Given the description of an element on the screen output the (x, y) to click on. 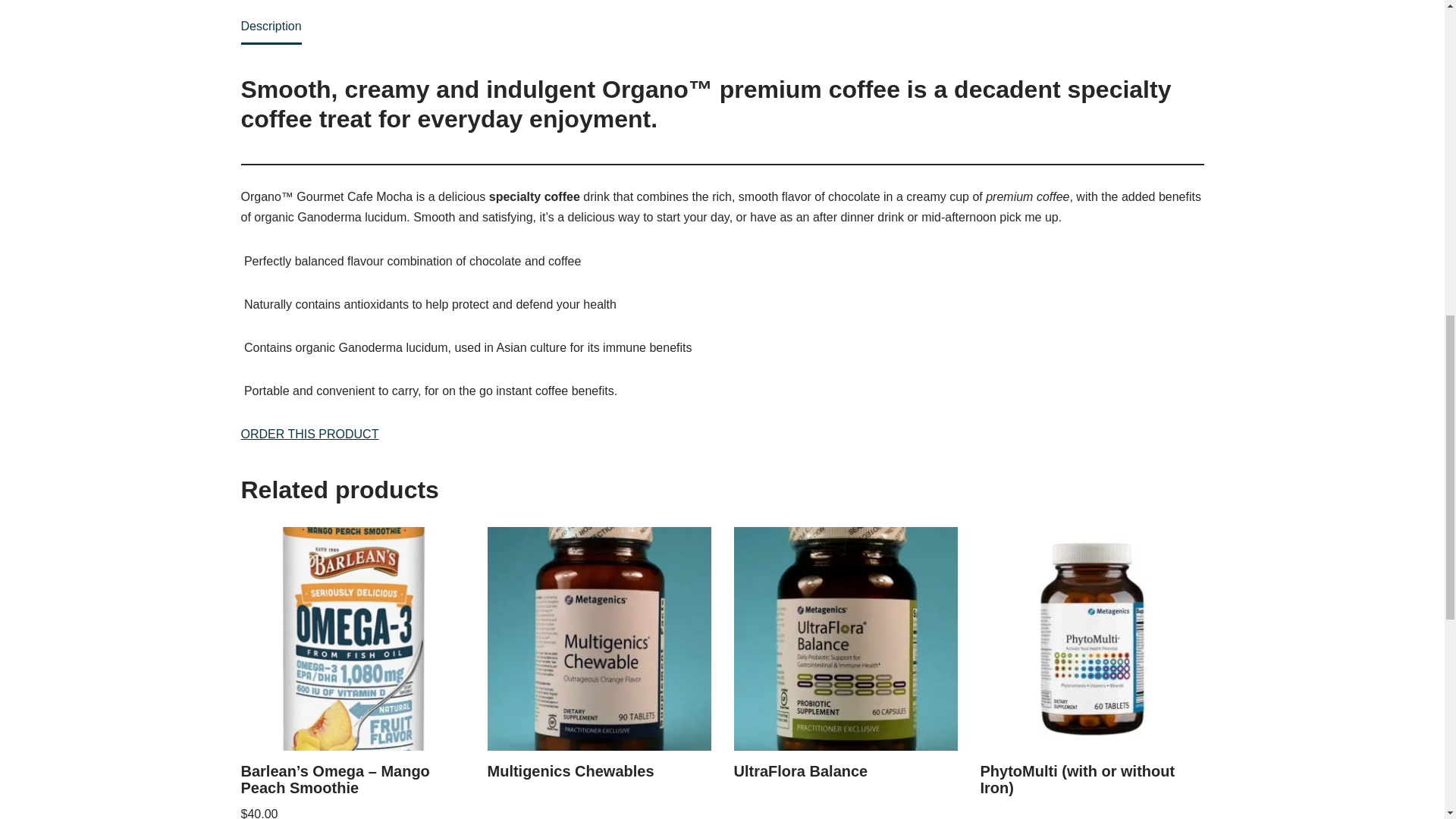
ORDER THIS PRODUCT (309, 433)
Description (271, 25)
